Given the description of an element on the screen output the (x, y) to click on. 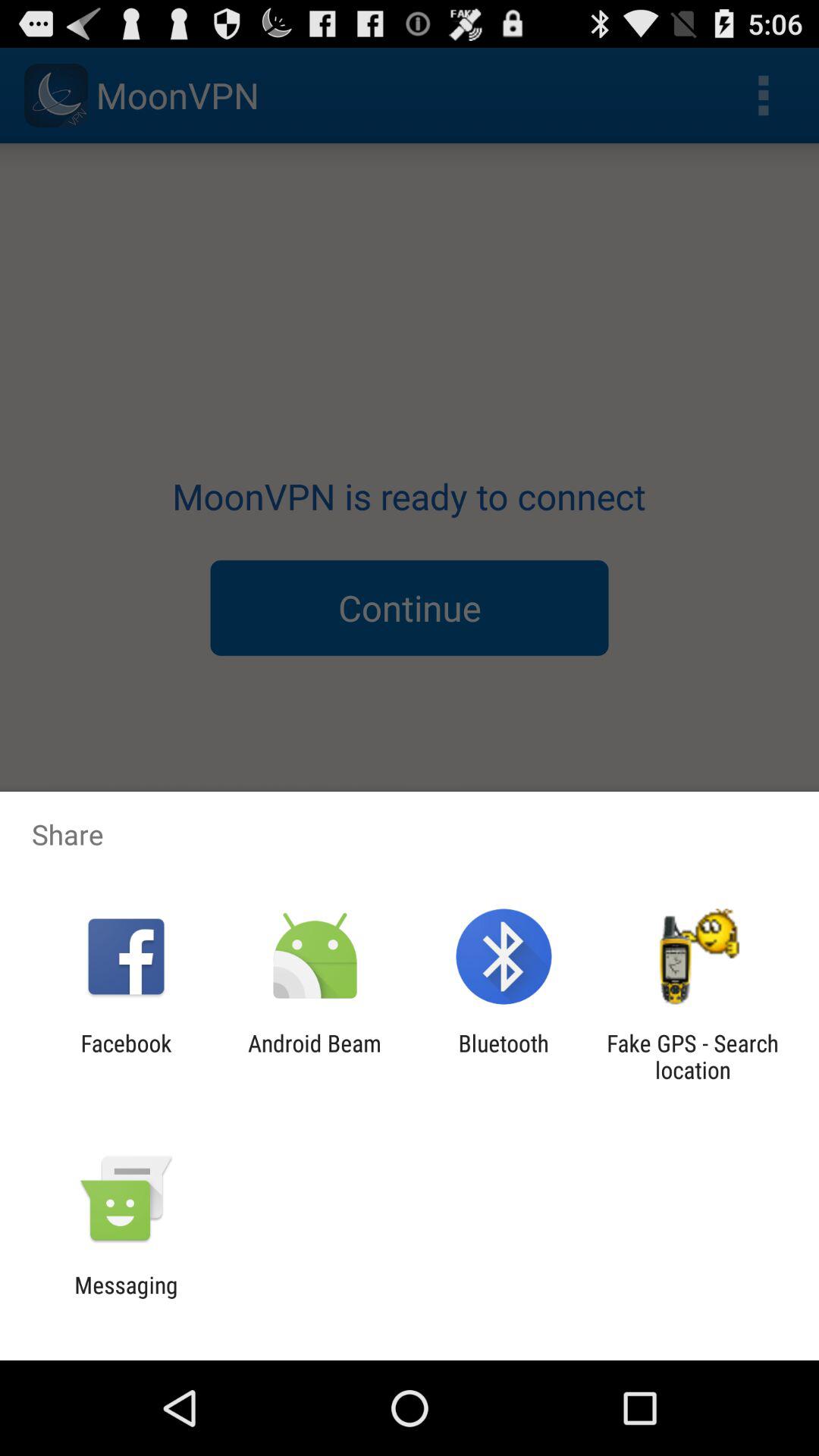
turn off the item to the left of android beam app (125, 1056)
